Given the description of an element on the screen output the (x, y) to click on. 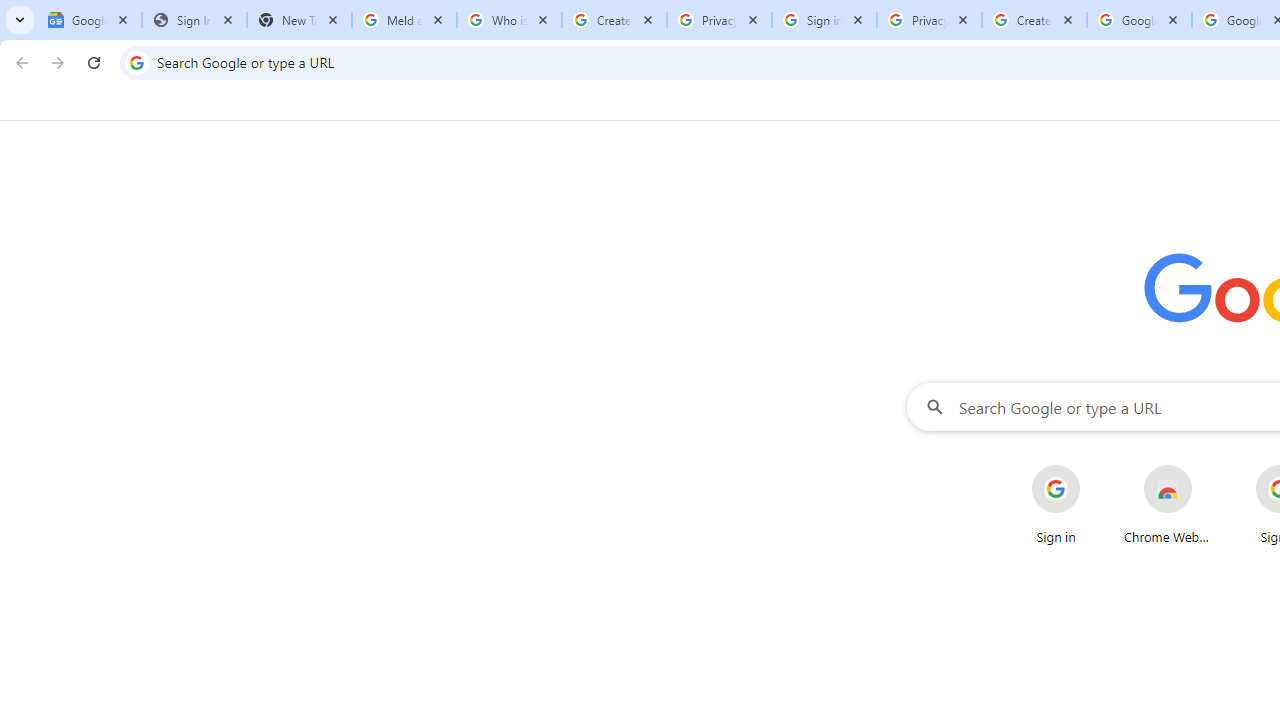
Create your Google Account (613, 20)
Google News (89, 20)
More actions for Sign in shortcut (1095, 466)
More actions for Chrome Web Store shortcut (1208, 466)
